Given the description of an element on the screen output the (x, y) to click on. 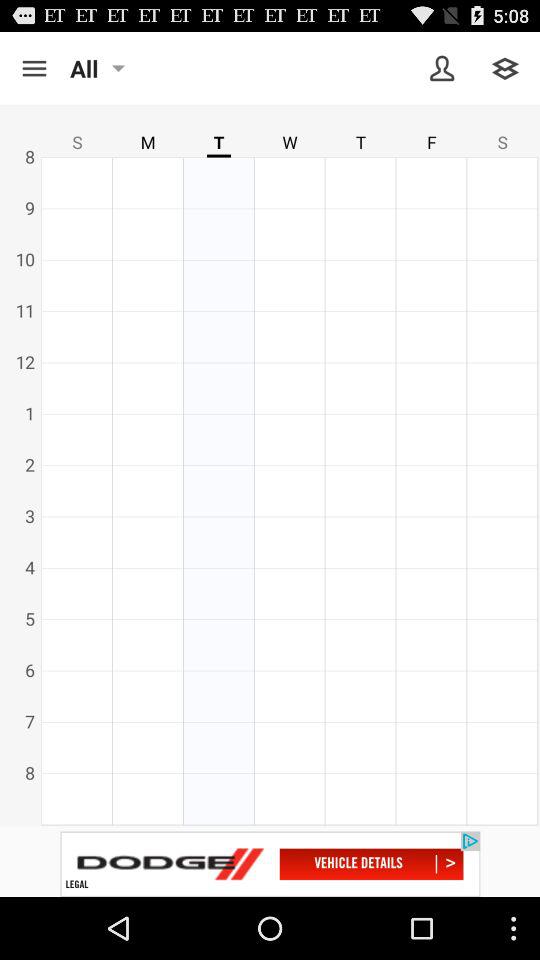
add contact (442, 68)
